Given the description of an element on the screen output the (x, y) to click on. 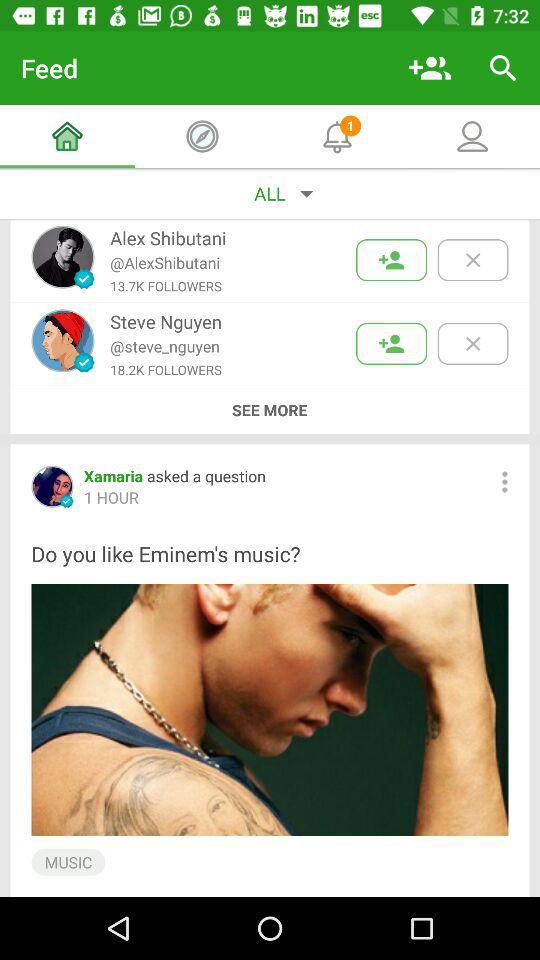
turn on item to the right of the xamaria asked a item (504, 481)
